Given the description of an element on the screen output the (x, y) to click on. 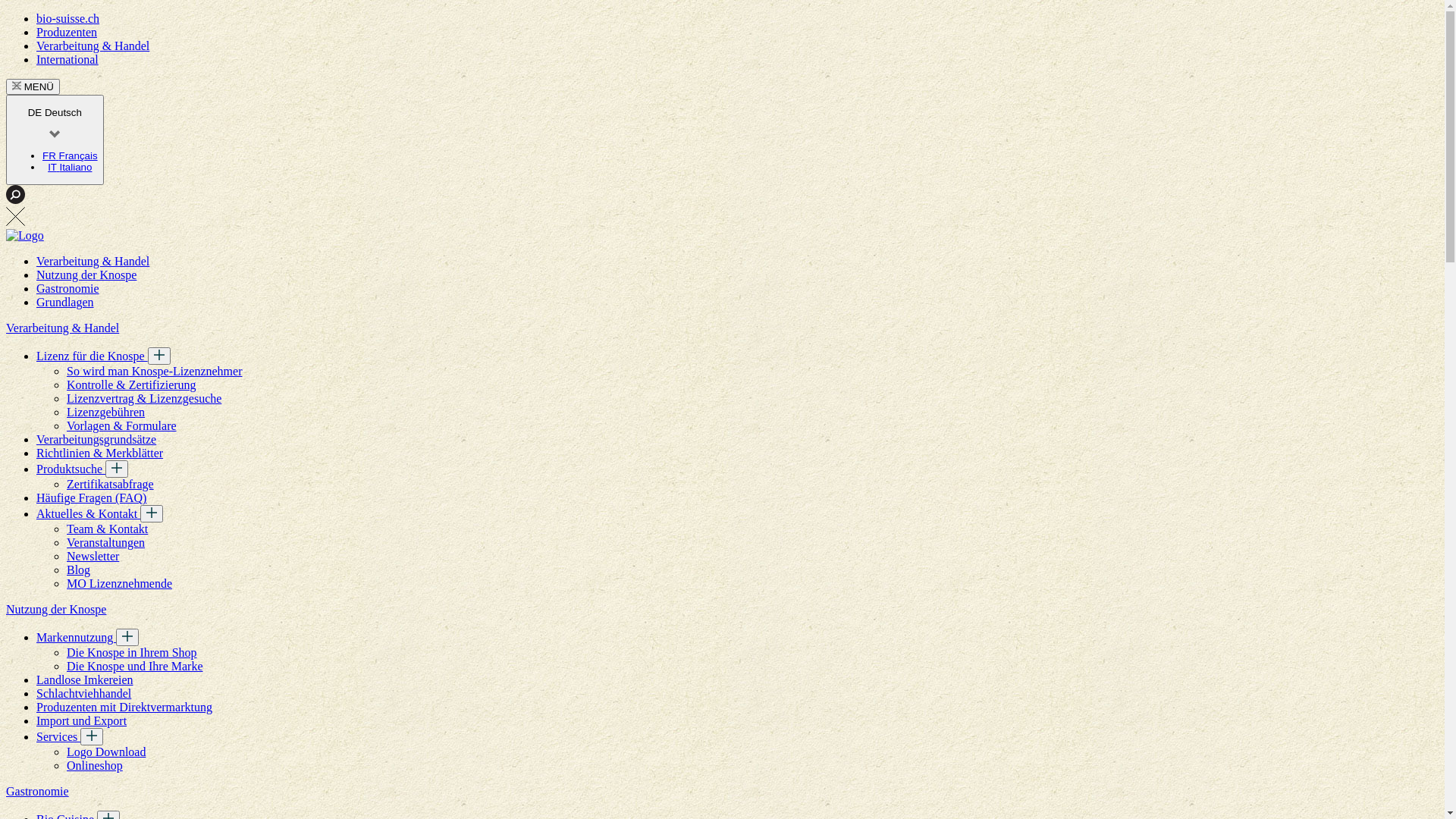
Landlose Imkereien Element type: text (84, 679)
Grundlagen Element type: text (65, 301)
Vorlagen & Formulare Element type: text (121, 425)
bio-suisse.ch Element type: text (67, 18)
Lizenzvertrag & Lizenzgesuche Element type: text (143, 398)
Produktsuche Element type: text (70, 468)
Import und Export Element type: text (81, 720)
Kontrolle & Zertifizierung Element type: text (131, 384)
Nutzung der Knospe Element type: text (56, 608)
Markennutzung Element type: text (76, 636)
Team & Kontakt Element type: text (106, 528)
Services Element type: text (58, 736)
Die Knospe und Ihre Marke Element type: text (134, 665)
Produzenten mit Direktvermarktung Element type: text (124, 706)
Verarbeitung & Handel Element type: text (62, 327)
Blog Element type: text (78, 569)
Die Knospe in Ihrem Shop Element type: text (131, 652)
International Element type: text (67, 59)
Nutzung der Knospe Element type: text (86, 274)
Schlachtviehhandel Element type: text (83, 693)
Aktuelles & Kontakt Element type: text (88, 513)
Onlineshop Element type: text (94, 765)
Veranstaltungen Element type: text (105, 542)
Newsletter Element type: text (92, 555)
Logo Download Element type: text (105, 751)
Gastronomie Element type: text (37, 790)
Verarbeitung & Handel Element type: text (92, 45)
So wird man Knospe-Lizenznehmer Element type: text (153, 370)
MO Lizenznehmende Element type: text (119, 583)
Produzenten Element type: text (66, 31)
Verarbeitung & Handel Element type: text (92, 260)
IT Italiano Element type: text (69, 166)
Gastronomie Element type: text (67, 288)
Zertifikatsabfrage Element type: text (109, 483)
